Given the description of an element on the screen output the (x, y) to click on. 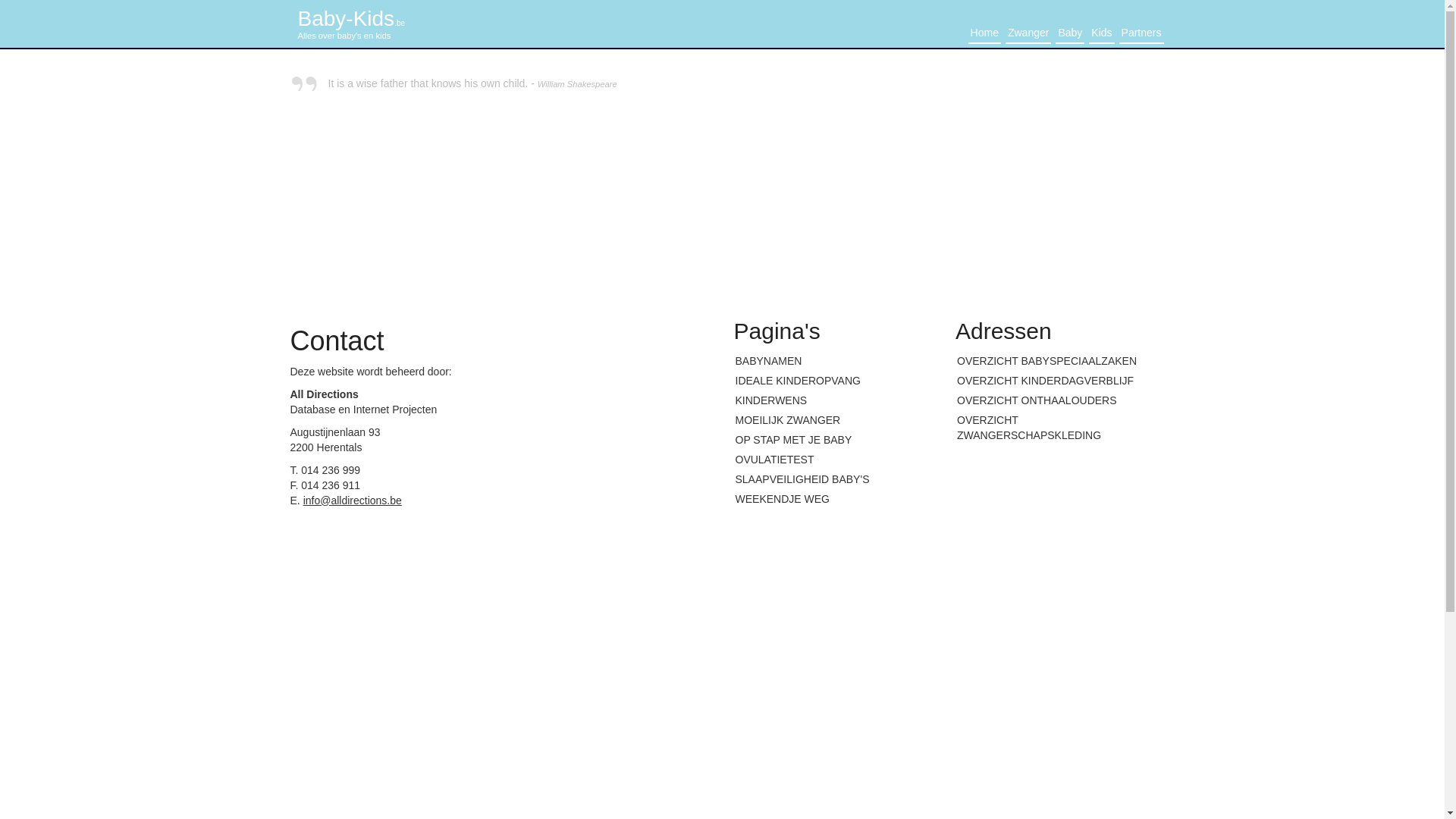
Partners Element type: text (1141, 32)
Kids Element type: text (1100, 32)
Baby-Kids.be Element type: text (350, 18)
Home Element type: text (984, 32)
MOEILIJK ZWANGER Element type: text (834, 419)
KINDERWENS Element type: text (834, 400)
Baby Element type: text (1069, 32)
Advertisement Element type: hover (944, 181)
BABYNAMEN Element type: text (834, 360)
OP STAP MET JE BABY Element type: text (834, 439)
OVERZICHT BABYSPECIAALZAKEN Element type: text (1055, 360)
OVULATIETEST Element type: text (834, 459)
WEEKENDJE WEG Element type: text (834, 498)
IDEALE KINDEROPVANG Element type: text (834, 380)
SLAAPVEILIGHEID BABY'S Element type: text (834, 479)
OVERZICHT ZWANGERSCHAPSKLEDING Element type: text (1055, 427)
OVERZICHT KINDERDAGVERBLIJF Element type: text (1055, 380)
Zwanger Element type: text (1028, 32)
OVERZICHT ONTHAALOUDERS Element type: text (1055, 400)
info@alldirections.be Element type: text (352, 500)
